Given the description of an element on the screen output the (x, y) to click on. 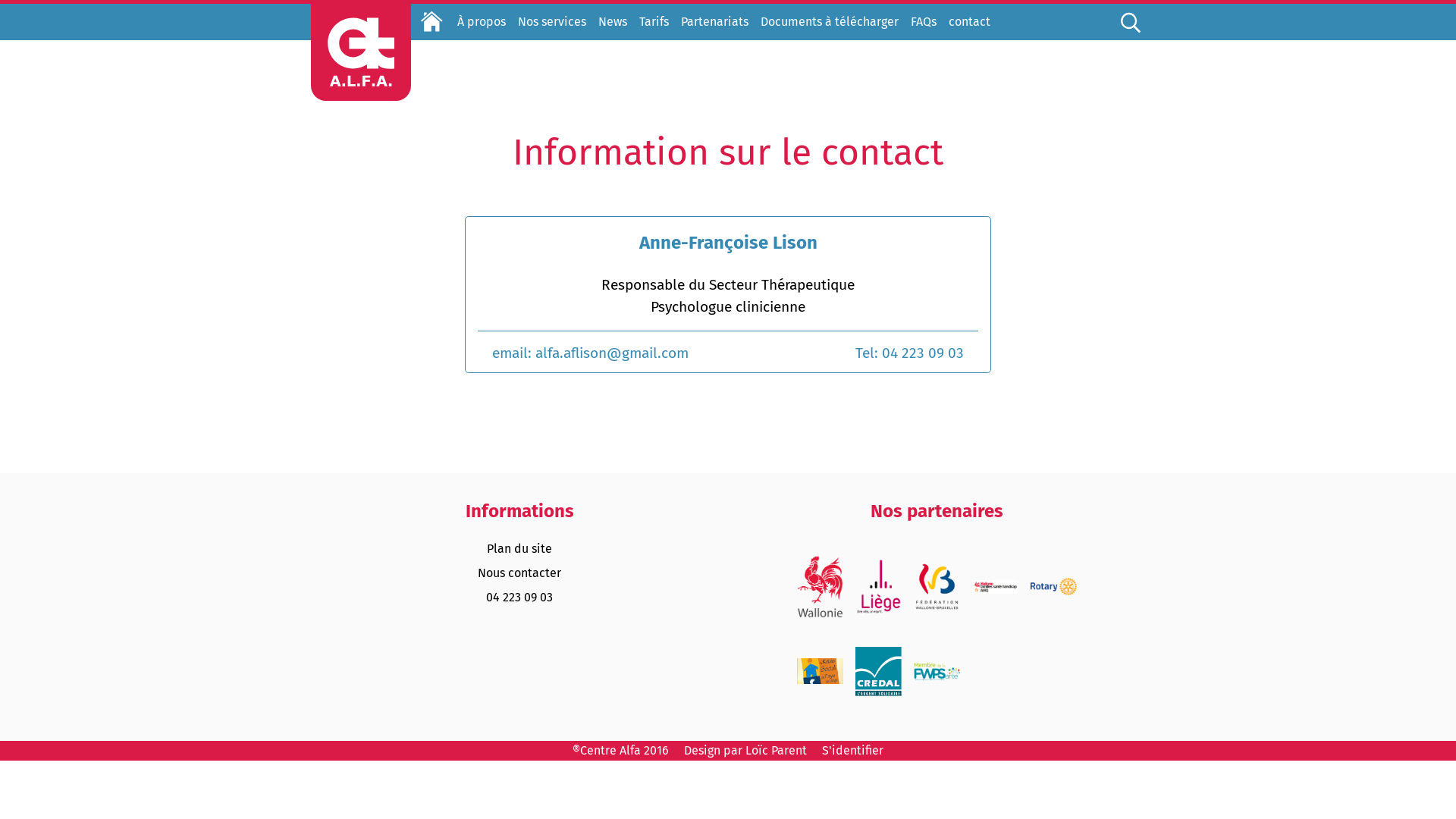
FAQs Element type: text (923, 21)
Se rendre sur le site de ce partenaire Element type: hover (819, 579)
Partenariats Element type: text (714, 21)
Se rendre sur le site de ce partenaire Element type: hover (1052, 601)
Se rendre sur le site de ce partenaire Element type: hover (878, 582)
Tarifs Element type: text (653, 21)
Tel: 04 223 09 03 Element type: text (916, 352)
S'identifier Element type: text (846, 750)
Se rendre sur le site de ce partenaire Element type: hover (819, 682)
Se rendre sur le site de ce partenaire Element type: hover (935, 585)
Logo du centre afla Element type: text (360, 51)
email: alfa.aflison@gmail.com Element type: text (582, 352)
contact Element type: text (969, 21)
Nos services Element type: text (551, 21)
Nous contacter Element type: text (519, 573)
04 223 09 03 Element type: text (519, 597)
Se rendre sur le site de ce partenaire Element type: hover (878, 670)
Plan du site Element type: text (519, 548)
News Element type: text (612, 21)
Se rendre sur le site de ce partenaire Element type: hover (995, 604)
Se rendre sur le site de ce partenaire Element type: hover (935, 685)
Accueil Element type: text (431, 21)
